Given the description of an element on the screen output the (x, y) to click on. 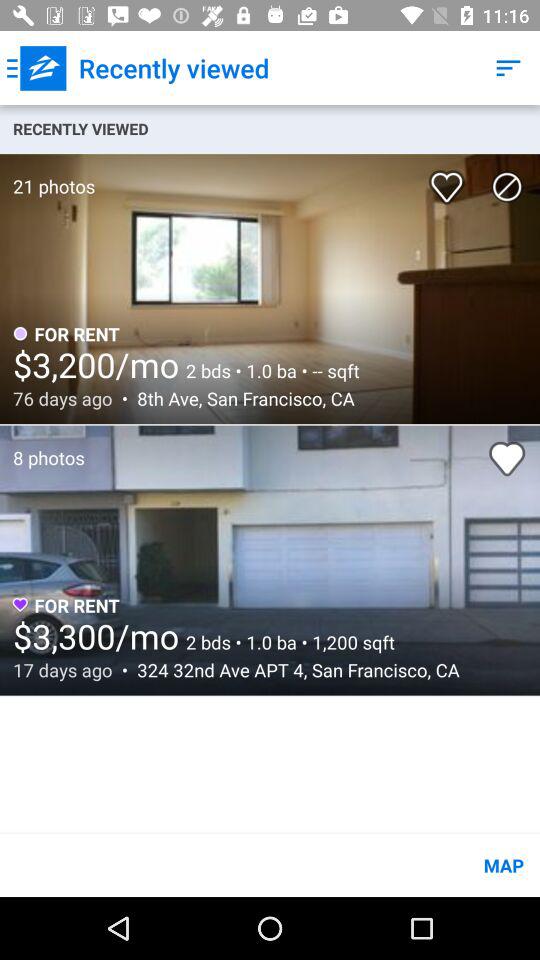
turn on the item next to the 8 photos (507, 458)
